Given the description of an element on the screen output the (x, y) to click on. 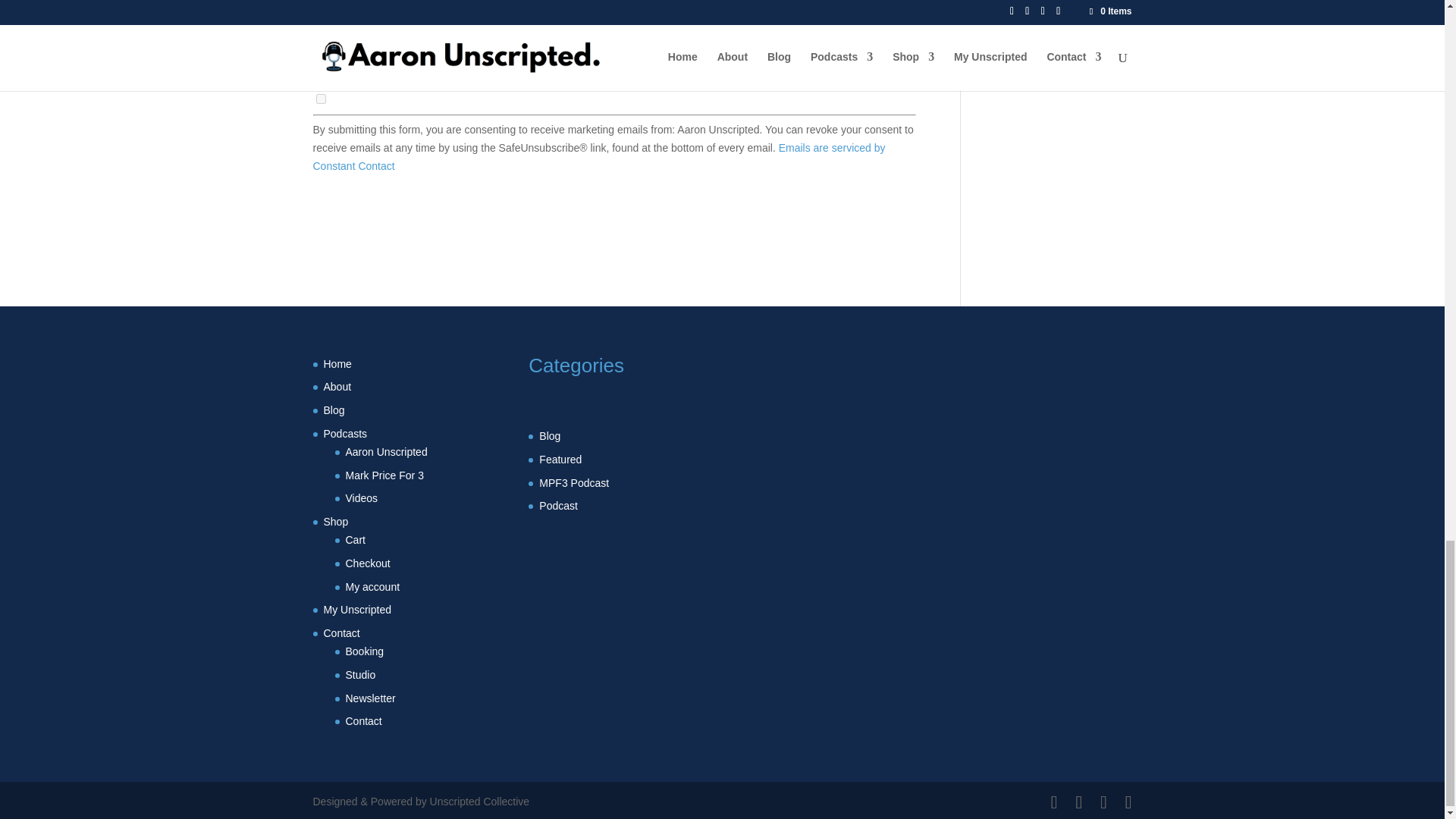
Submit Comment (840, 22)
71b214cc-3ec6-11ef-820f-fa163eaee913 (319, 99)
